Given the description of an element on the screen output the (x, y) to click on. 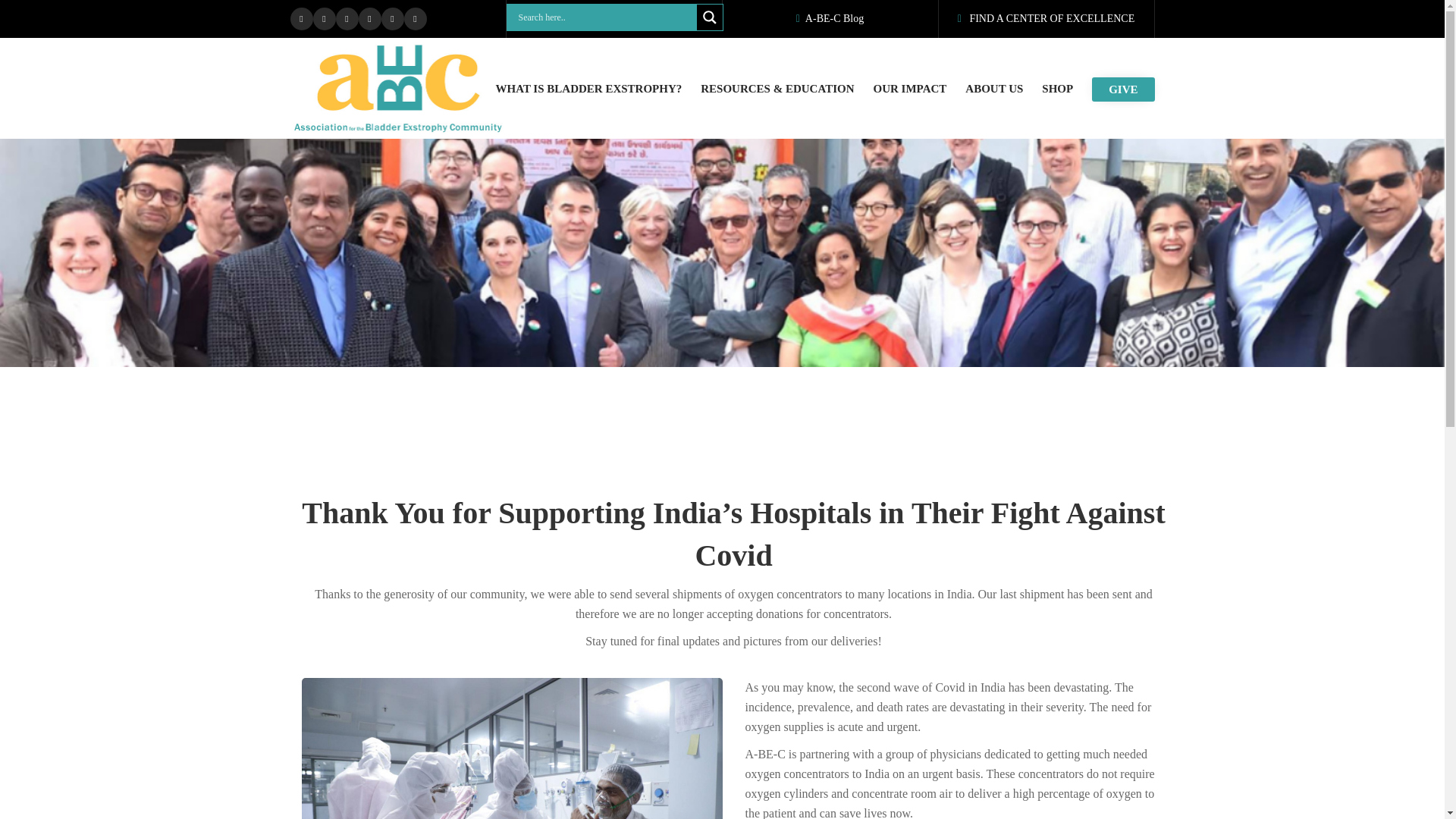
civil (511, 748)
